Given the description of an element on the screen output the (x, y) to click on. 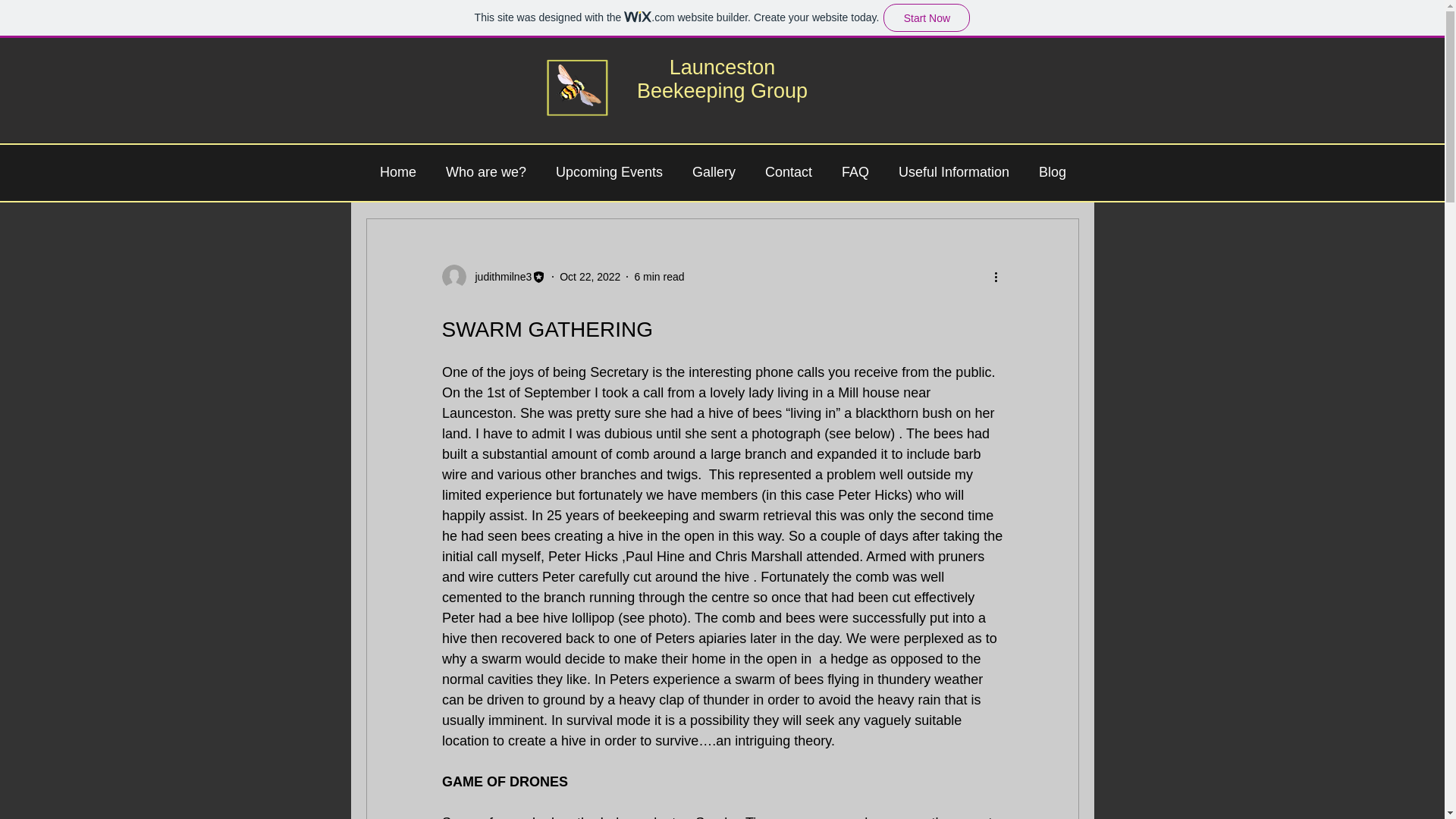
All Posts (385, 172)
judithmilne3 (493, 276)
6 min read (658, 275)
FAQ (855, 171)
Oct 22, 2022 (589, 275)
Upcoming Events (609, 171)
Contact (789, 171)
Gallery (714, 171)
Home (397, 171)
Who are we? (485, 171)
judithmilne3 (498, 276)
